Given the description of an element on the screen output the (x, y) to click on. 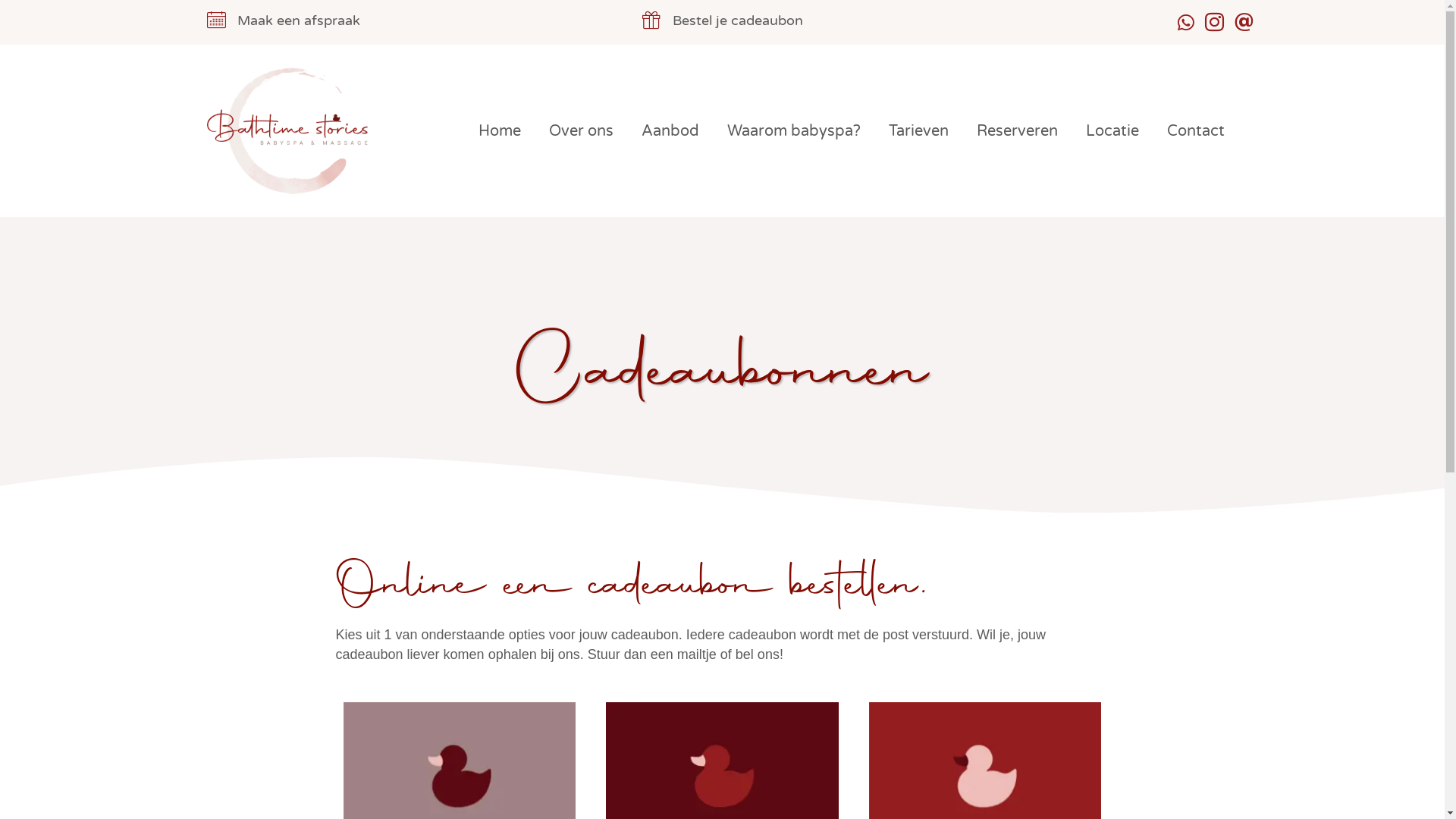
Maak een afspraak  Element type: text (299, 20)
Locatie Element type: text (1112, 130)
Contact Element type: text (1194, 130)
Home Element type: text (498, 130)
Tarieven Element type: text (918, 130)
Waarom babyspa? Element type: text (792, 130)
Over ons Element type: text (581, 130)
Reserveren Element type: text (1017, 130)
Aanbod Element type: text (669, 130)
LOGO_Bathtimestories (2) (1) Element type: hover (286, 130)
Bestel je cadeaubon Element type: text (736, 20)
